Given the description of an element on the screen output the (x, y) to click on. 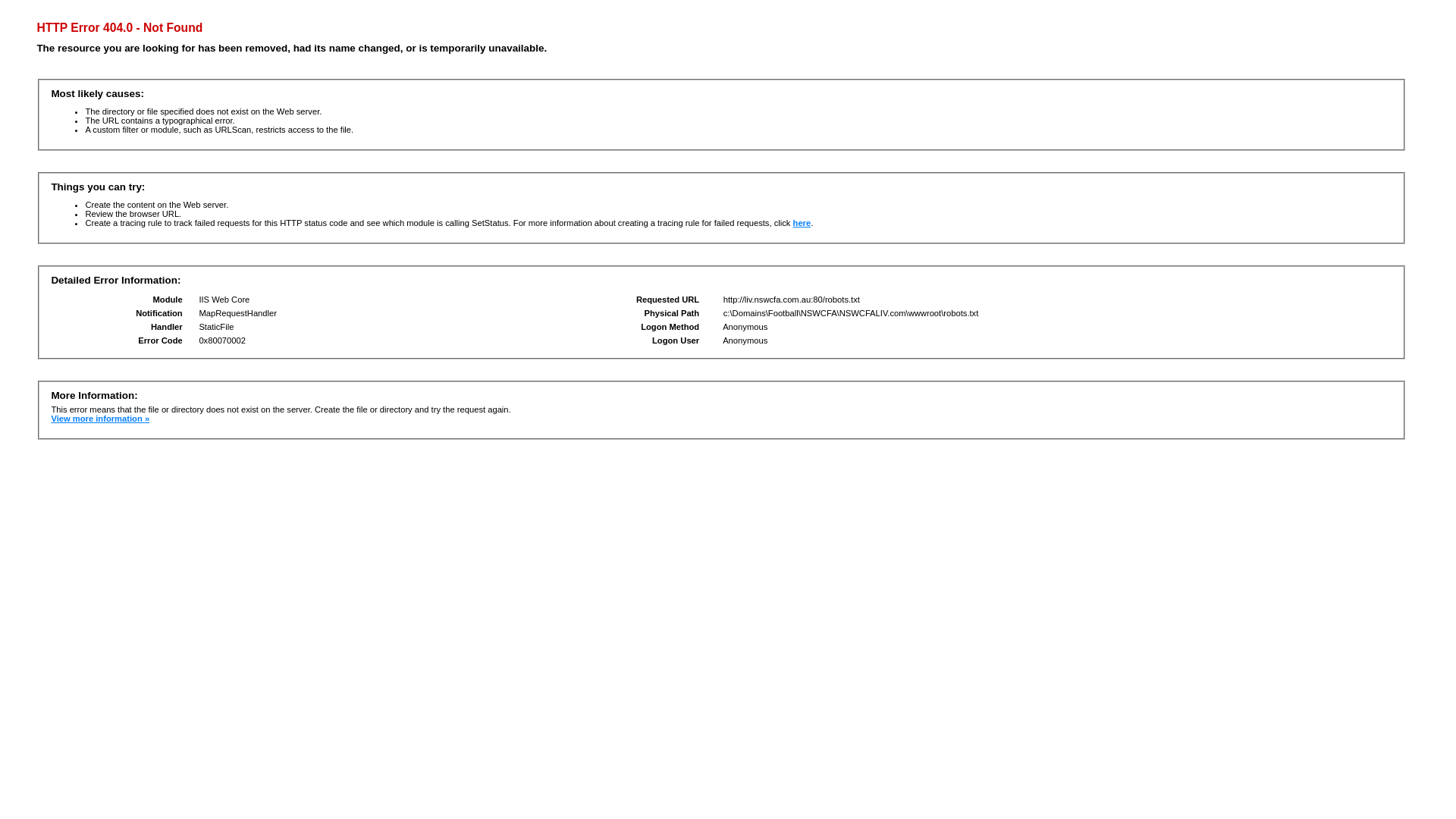
here Element type: text (802, 222)
